Given the description of an element on the screen output the (x, y) to click on. 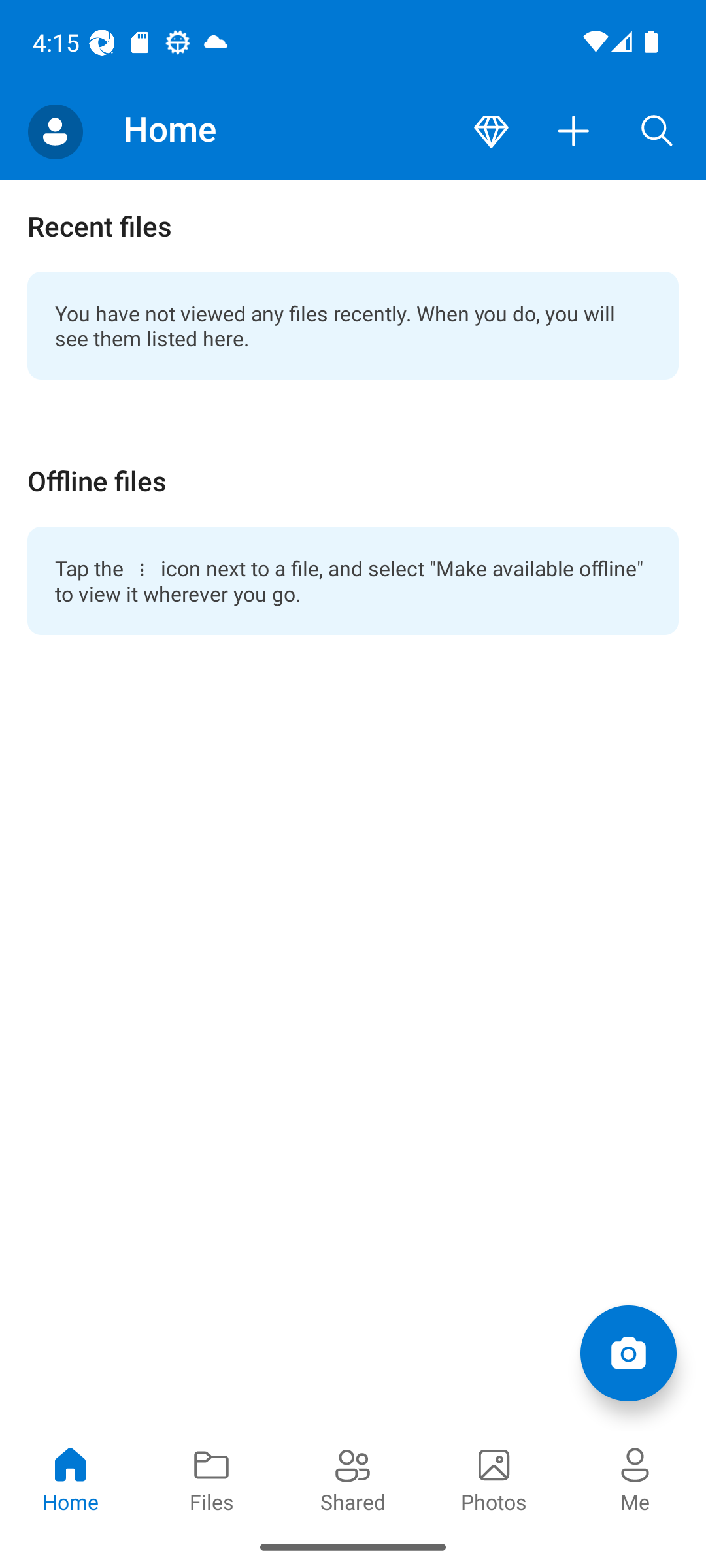
Account switcher (55, 131)
Premium button (491, 131)
More actions button (574, 131)
Search button (656, 131)
Scan (628, 1352)
Files pivot Files (211, 1478)
Shared pivot Shared (352, 1478)
Photos pivot Photos (493, 1478)
Me pivot Me (635, 1478)
